Given the description of an element on the screen output the (x, y) to click on. 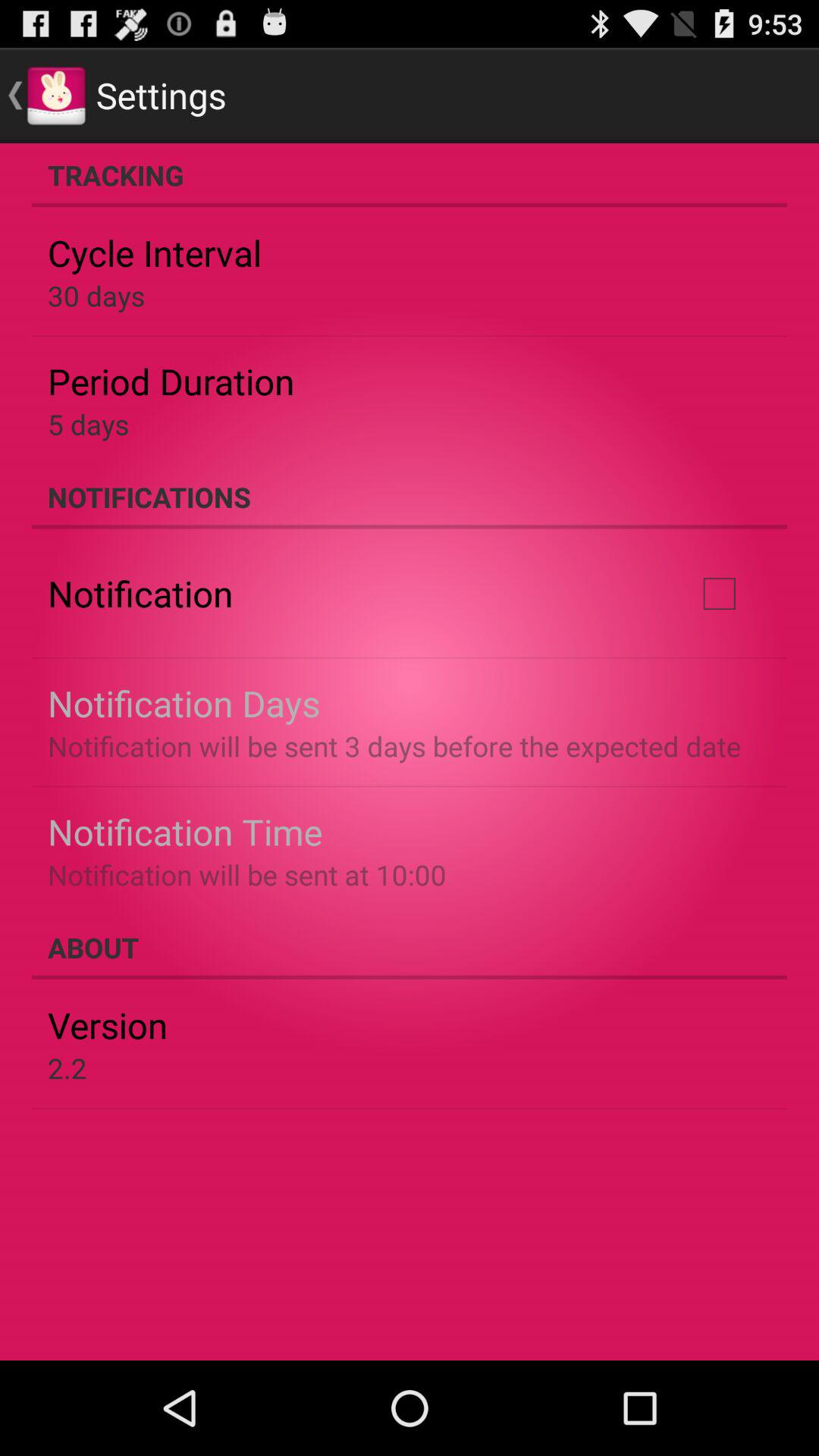
open cycle interval icon (154, 252)
